Given the description of an element on the screen output the (x, y) to click on. 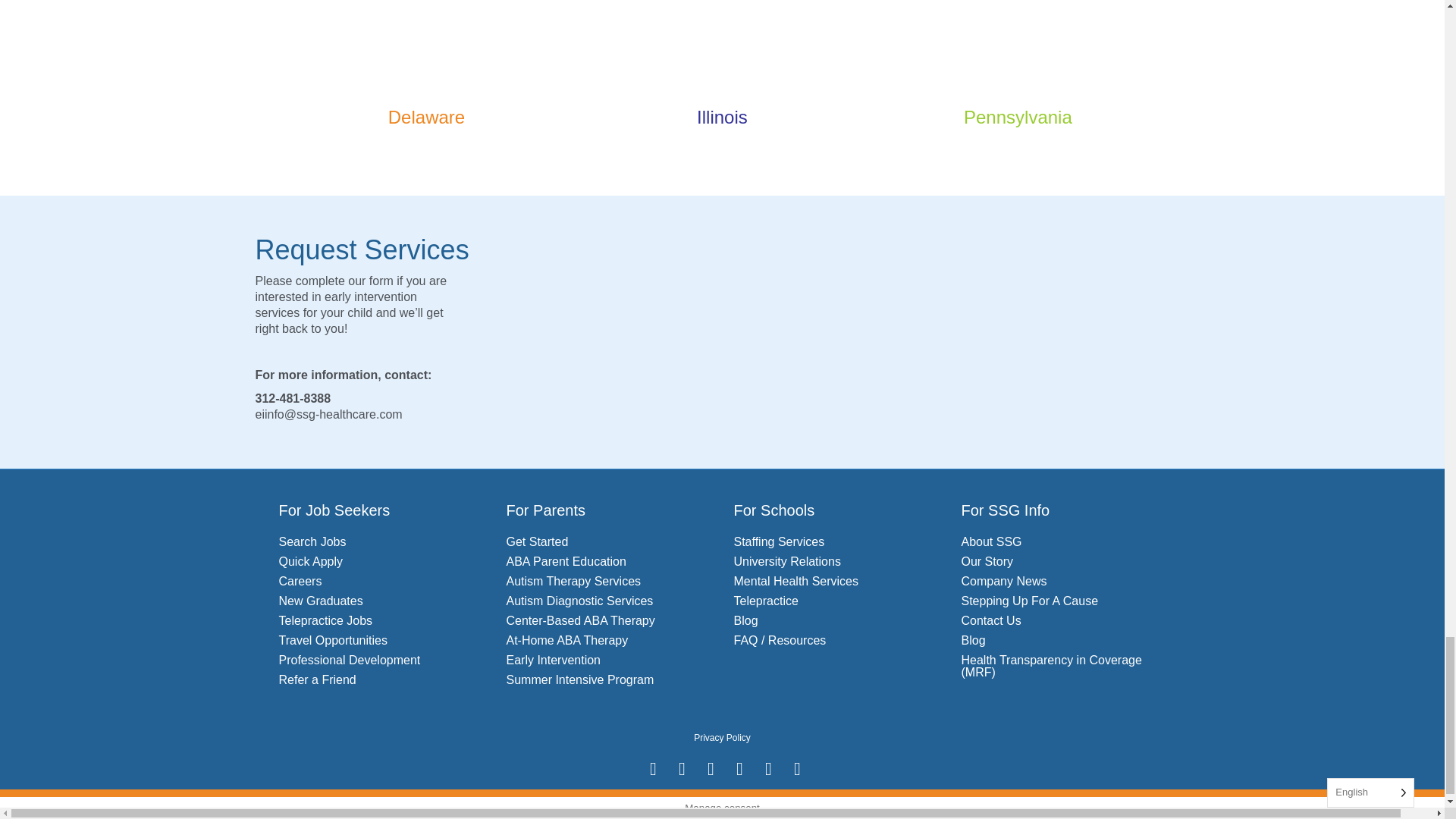
Delaware (426, 42)
Illinois (721, 42)
pennsylvania (1017, 42)
